Given the description of an element on the screen output the (x, y) to click on. 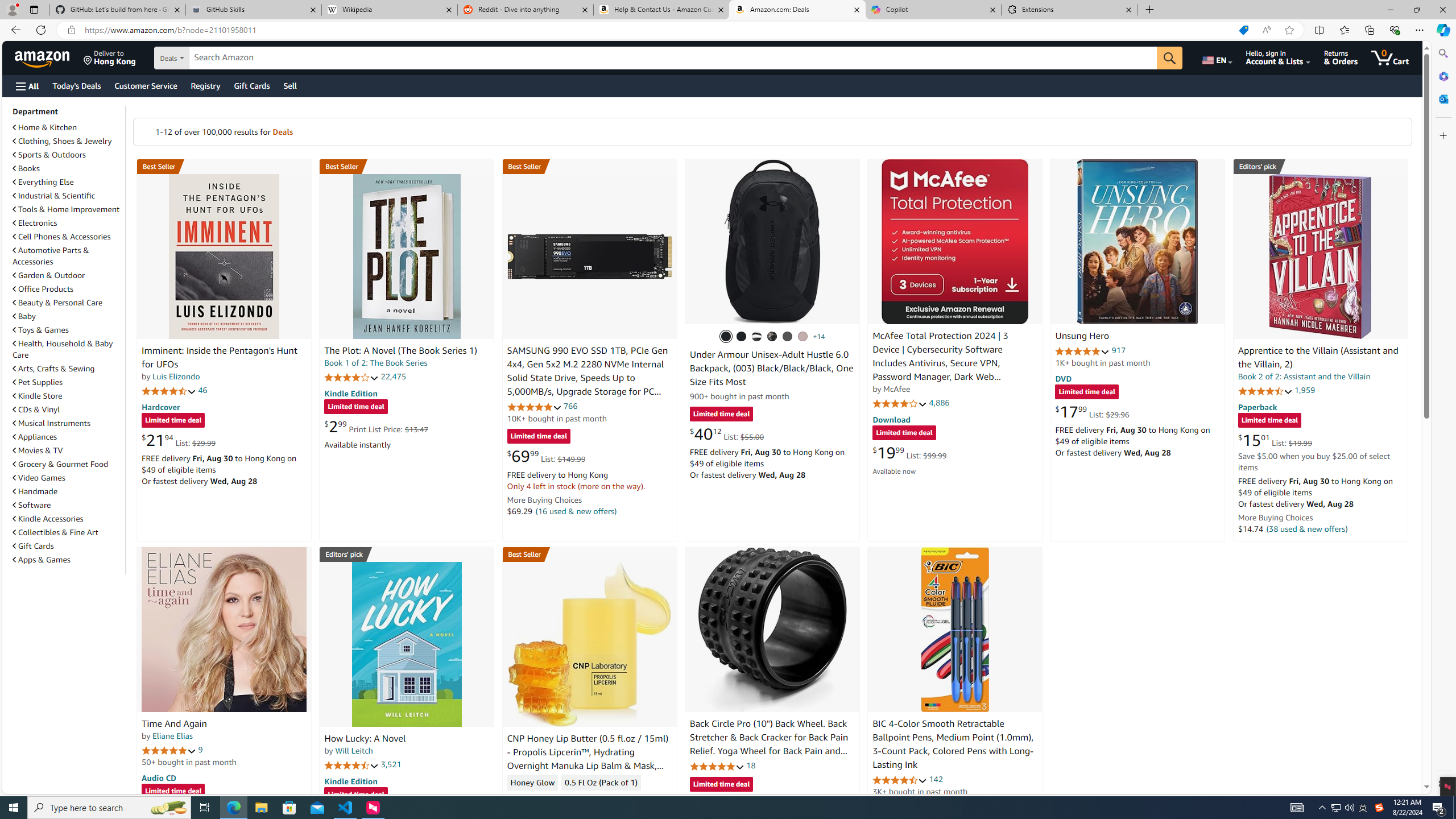
$15.01 List: $19.99 (1274, 439)
Kindle Accessories (67, 518)
Today's Deals (76, 85)
Pet Supplies (67, 382)
Grocery & Gourmet Food (67, 464)
0 items in cart (1389, 57)
CDs & Vinyl (67, 409)
4.1 out of 5 stars (899, 403)
Unsung Hero (1082, 336)
Arts, Crafts & Sewing (53, 368)
Handmade (35, 491)
$69.99 List: $149.99 (545, 455)
Close Outlook pane (1442, 98)
Musical Instruments (51, 422)
